Given the description of an element on the screen output the (x, y) to click on. 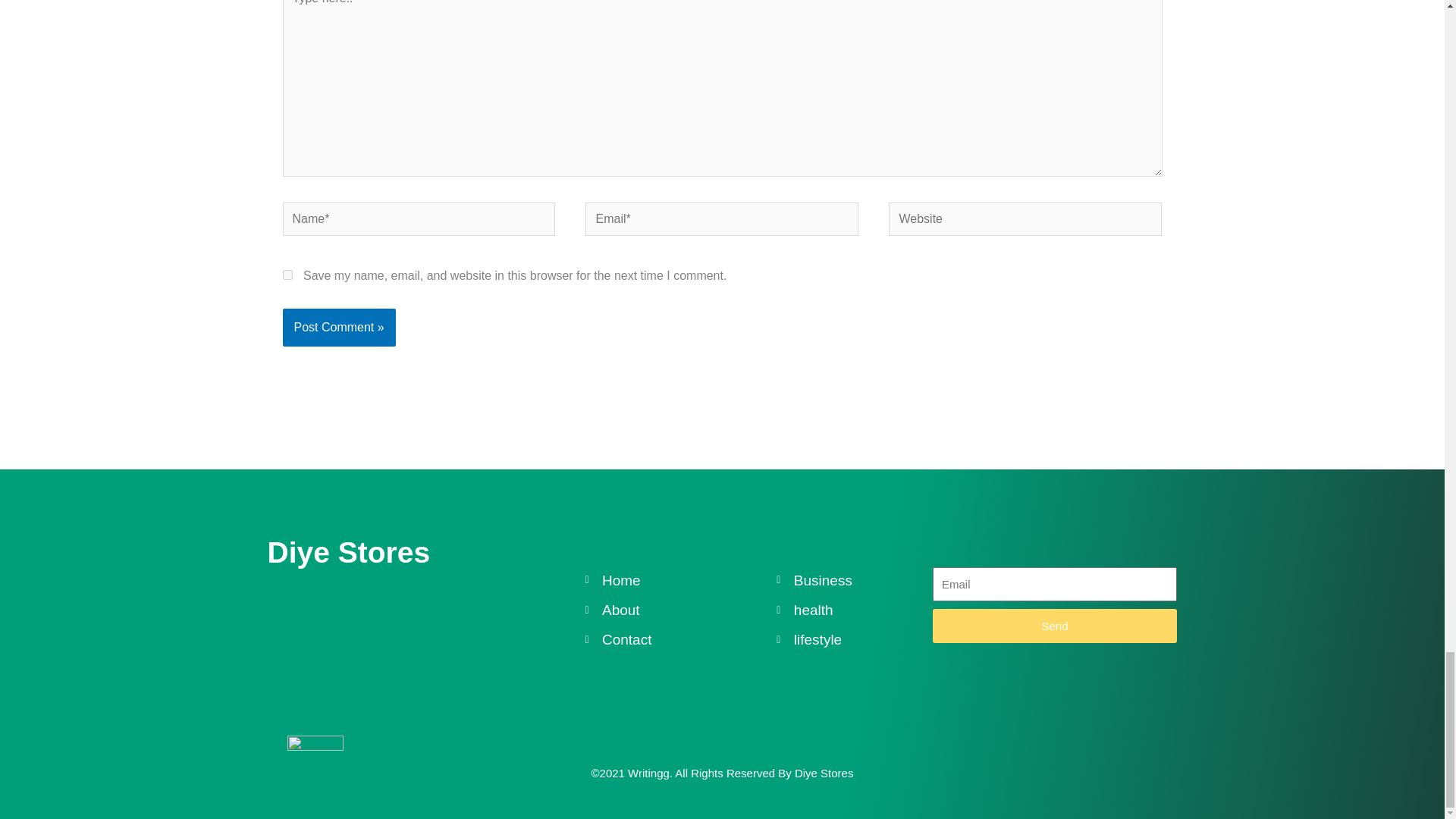
yes (287, 275)
Diye Stores (347, 552)
Send (1054, 625)
Business (853, 580)
health (853, 610)
Contact (680, 639)
lifestyle (853, 639)
About (680, 610)
Home (680, 580)
